Given the description of an element on the screen output the (x, y) to click on. 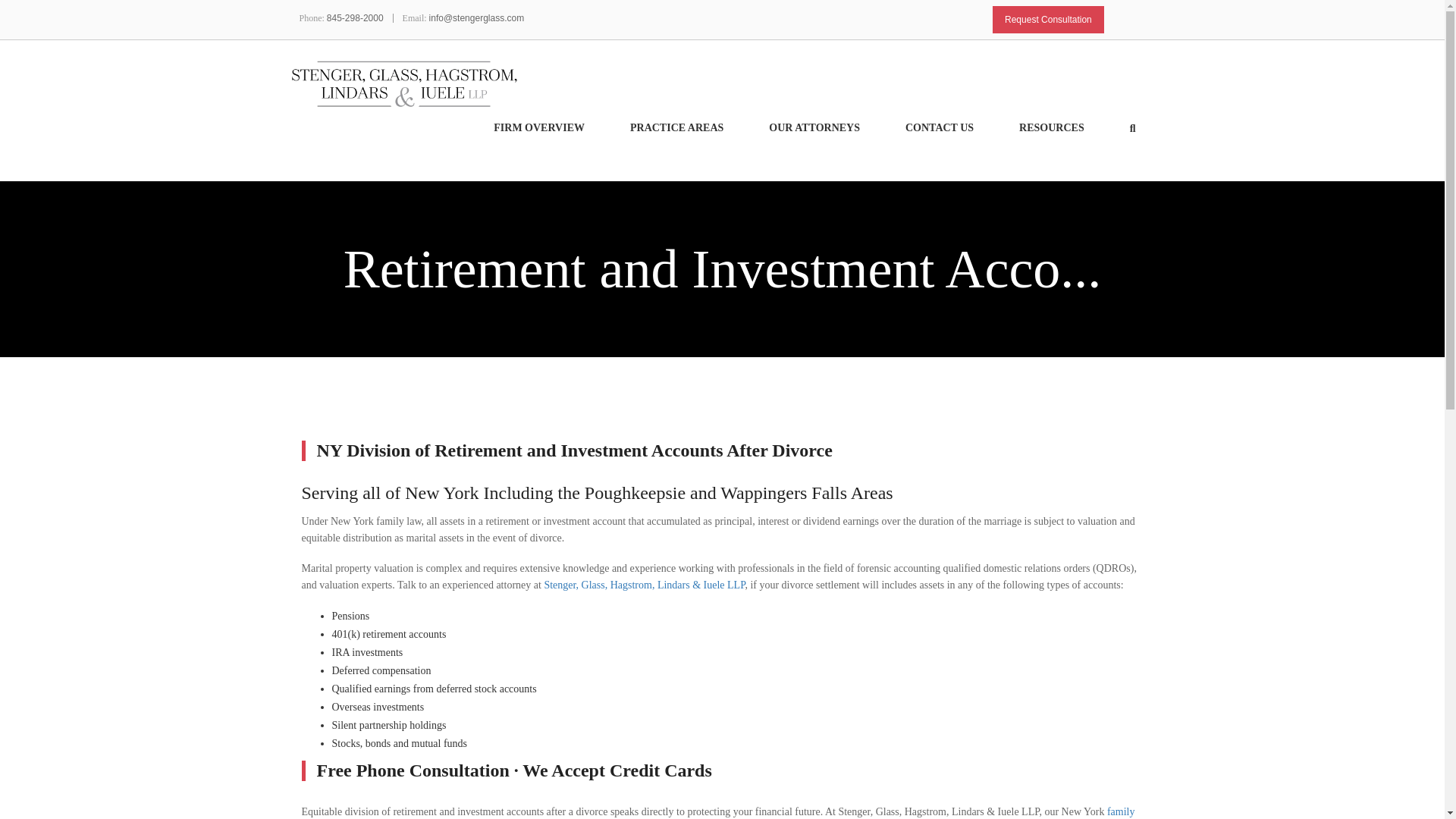
CONTACT US (962, 142)
OUR ATTORNEYS (836, 142)
Request Consultation (1047, 19)
PRACTICE AREAS (699, 142)
FIRM OVERVIEW (561, 142)
845-298-2000 (355, 18)
